Given the description of an element on the screen output the (x, y) to click on. 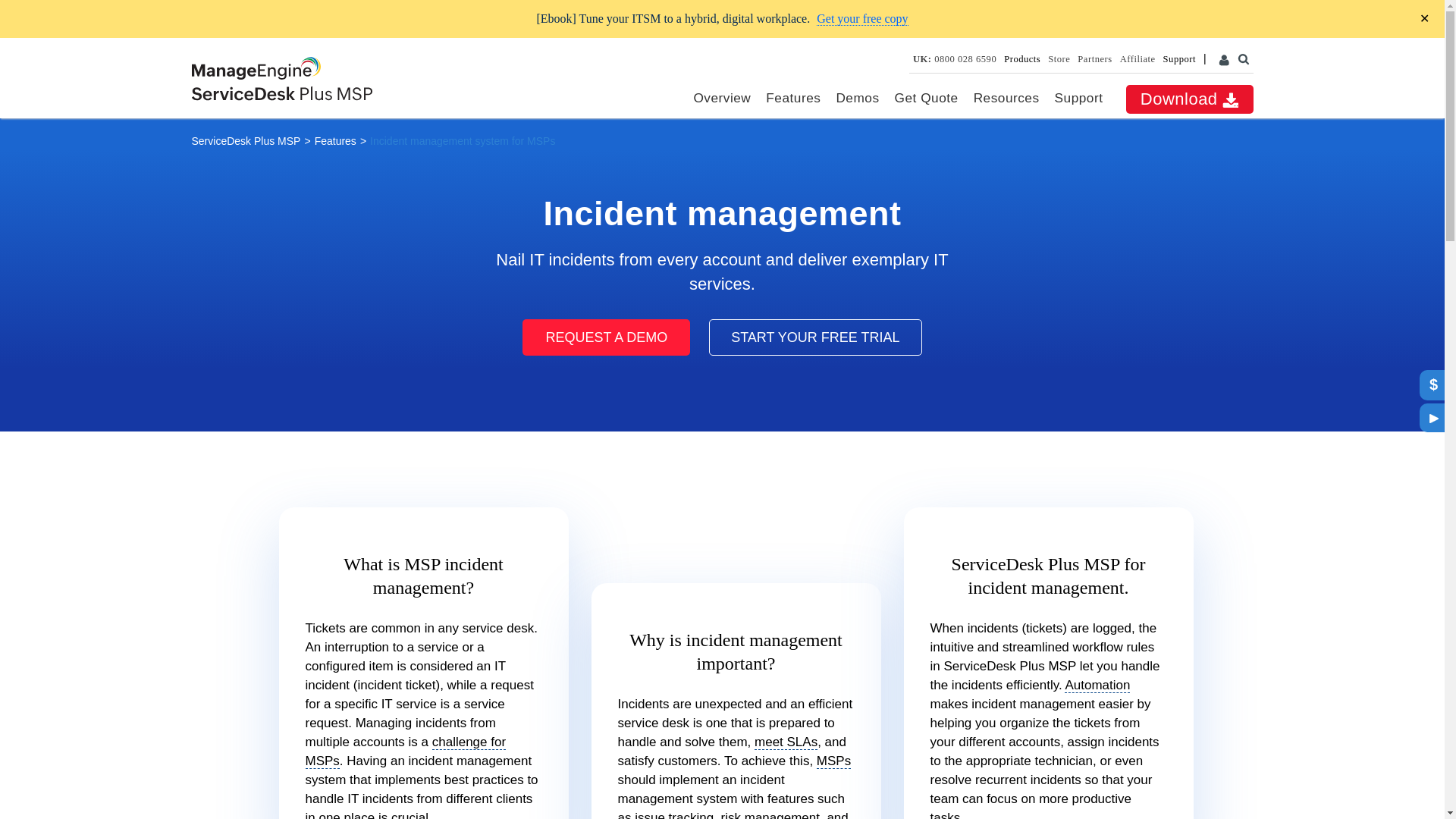
Free PSA software for MSP (815, 337)
UK: 0800 028 6590 (953, 59)
Download ServiceDesk Plus - MSP (1188, 99)
Overview (722, 97)
ServiceDesk Plus MSP (244, 141)
Get Quote (926, 97)
MSP Help Desk Software - ServiceDesk Plus - MSP (280, 93)
Resources (1006, 97)
Support (1078, 97)
Features (793, 97)
Managed services SLA (785, 742)
MSP challenges (404, 751)
Service desk automation (1096, 685)
Demos (857, 97)
What is a managed service provider? (833, 761)
